Given the description of an element on the screen output the (x, y) to click on. 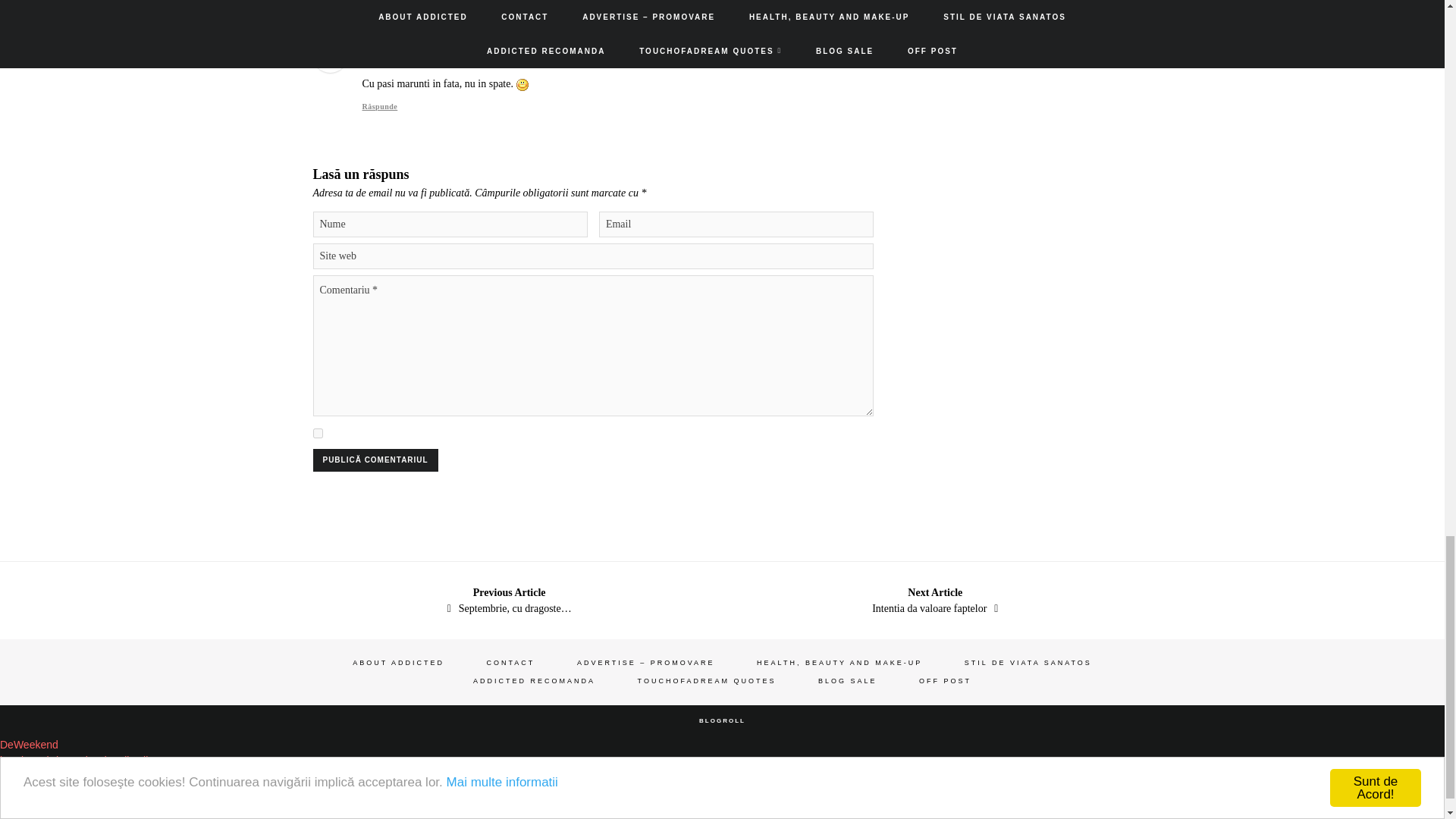
subscribe (317, 433)
